Given the description of an element on the screen output the (x, y) to click on. 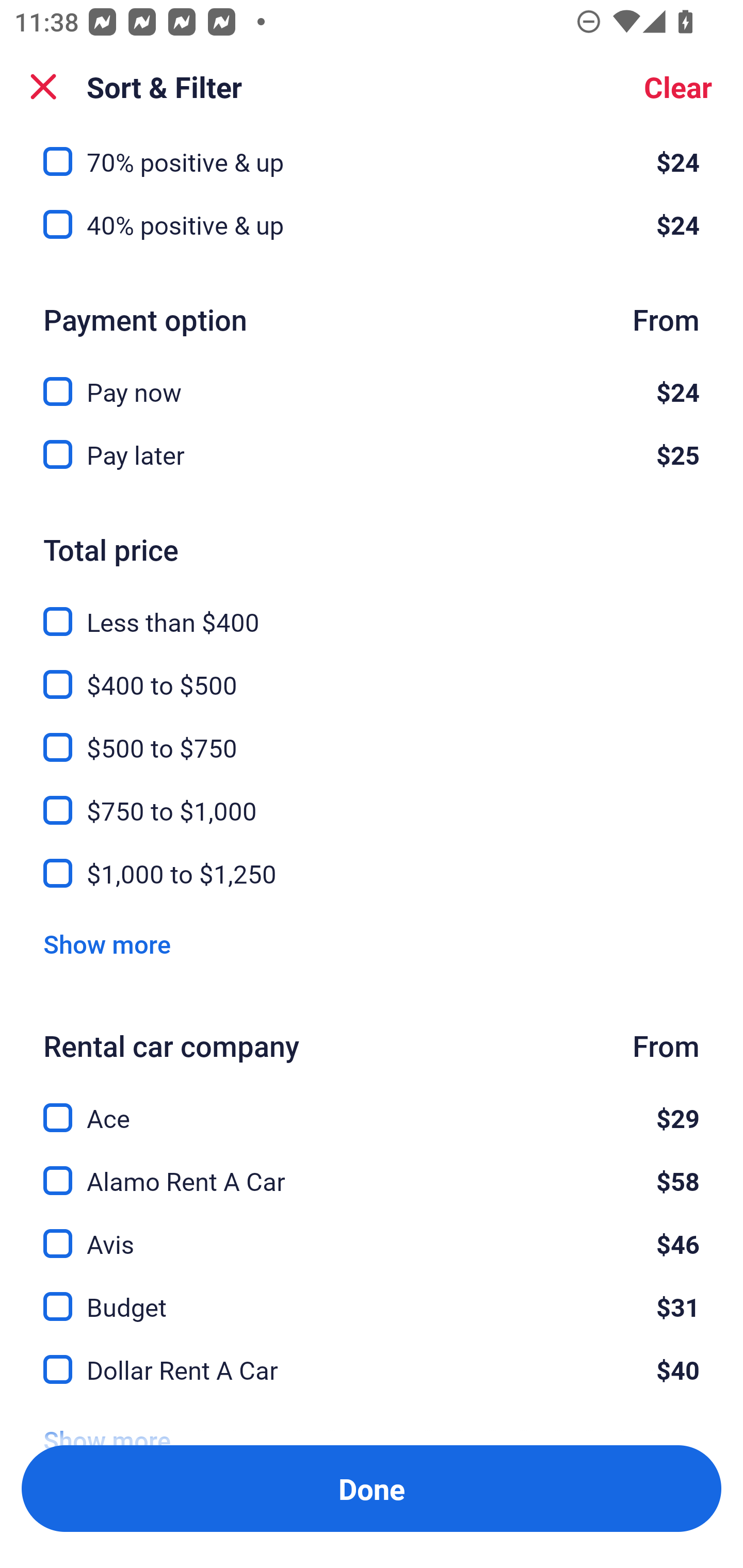
Close Sort and Filter (43, 86)
Clear (677, 86)
70% positive & up, $24 70% positive & up $24 (371, 155)
40% positive & up, $24 40% positive & up $24 (371, 224)
Pay now, $24 Pay now $24 (371, 379)
Pay later, $25 Pay later $25 (371, 454)
Less than $400, Less than $400 (371, 609)
$400 to $500, $400 to $500 (371, 672)
$500 to $750, $500 to $750 (371, 735)
$750 to $1,000, $750 to $1,000 (371, 798)
$1,000 to $1,250, $1,000 to $1,250 (371, 874)
Show more Show more Link (106, 943)
Ace, $29 Ace $29 (371, 1106)
Alamo Rent A Car, $58 Alamo Rent A Car $58 (371, 1169)
Avis, $46 Avis $46 (371, 1232)
Budget, $31 Budget $31 (371, 1294)
Dollar Rent A Car, $40 Dollar Rent A Car $40 (371, 1369)
Apply and close Sort and Filter Done (371, 1488)
